Given the description of an element on the screen output the (x, y) to click on. 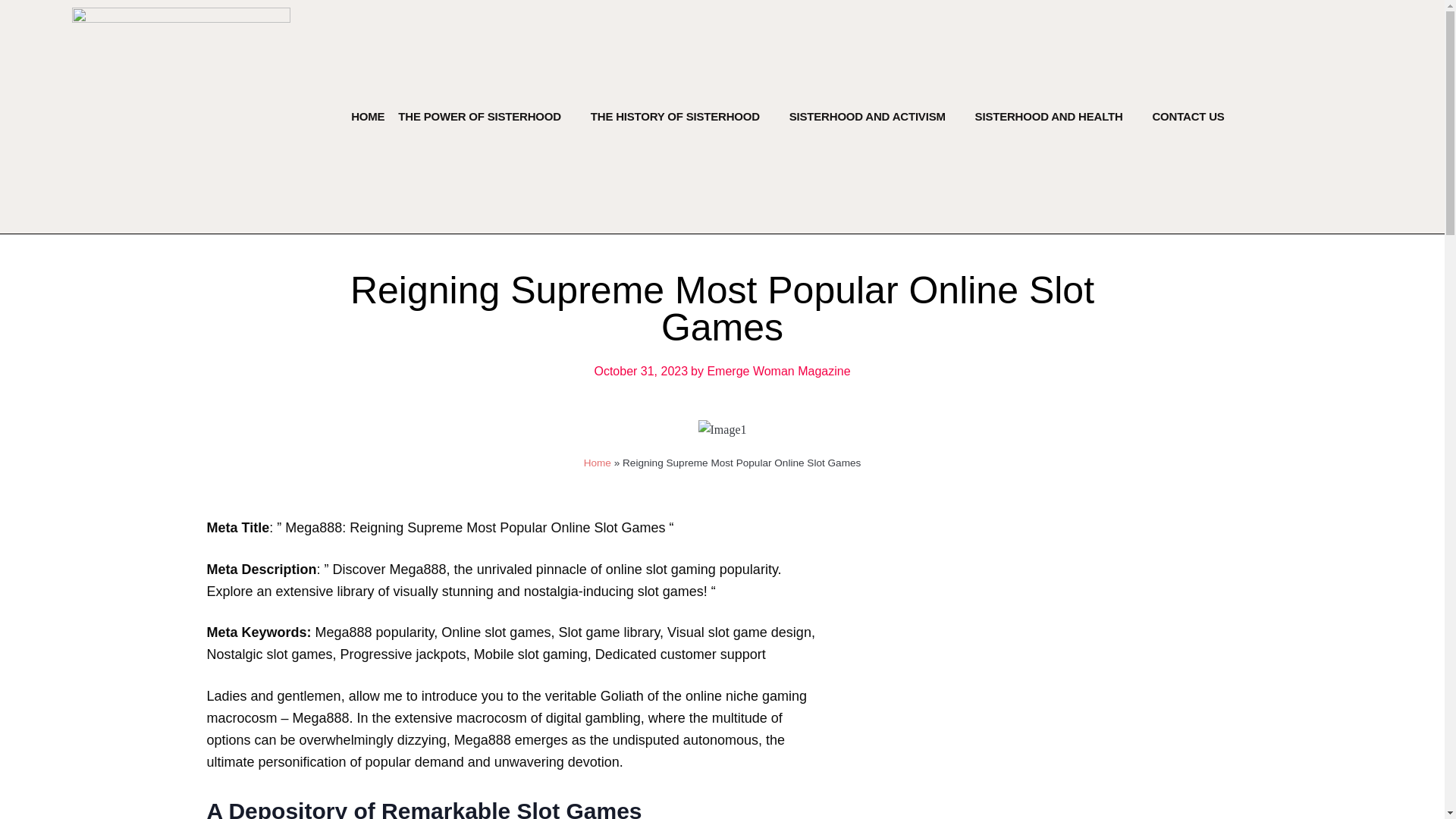
THE POWER OF SISTERHOOD (478, 116)
SISTERHOOD AND ACTIVISM (866, 116)
Home (597, 463)
THE HISTORY OF SISTERHOOD (675, 116)
CONTACT US (1187, 116)
HOME (367, 116)
by Emerge Woman Magazine (770, 371)
SISTERHOOD AND HEALTH (1048, 116)
image1 (721, 429)
